Given the description of an element on the screen output the (x, y) to click on. 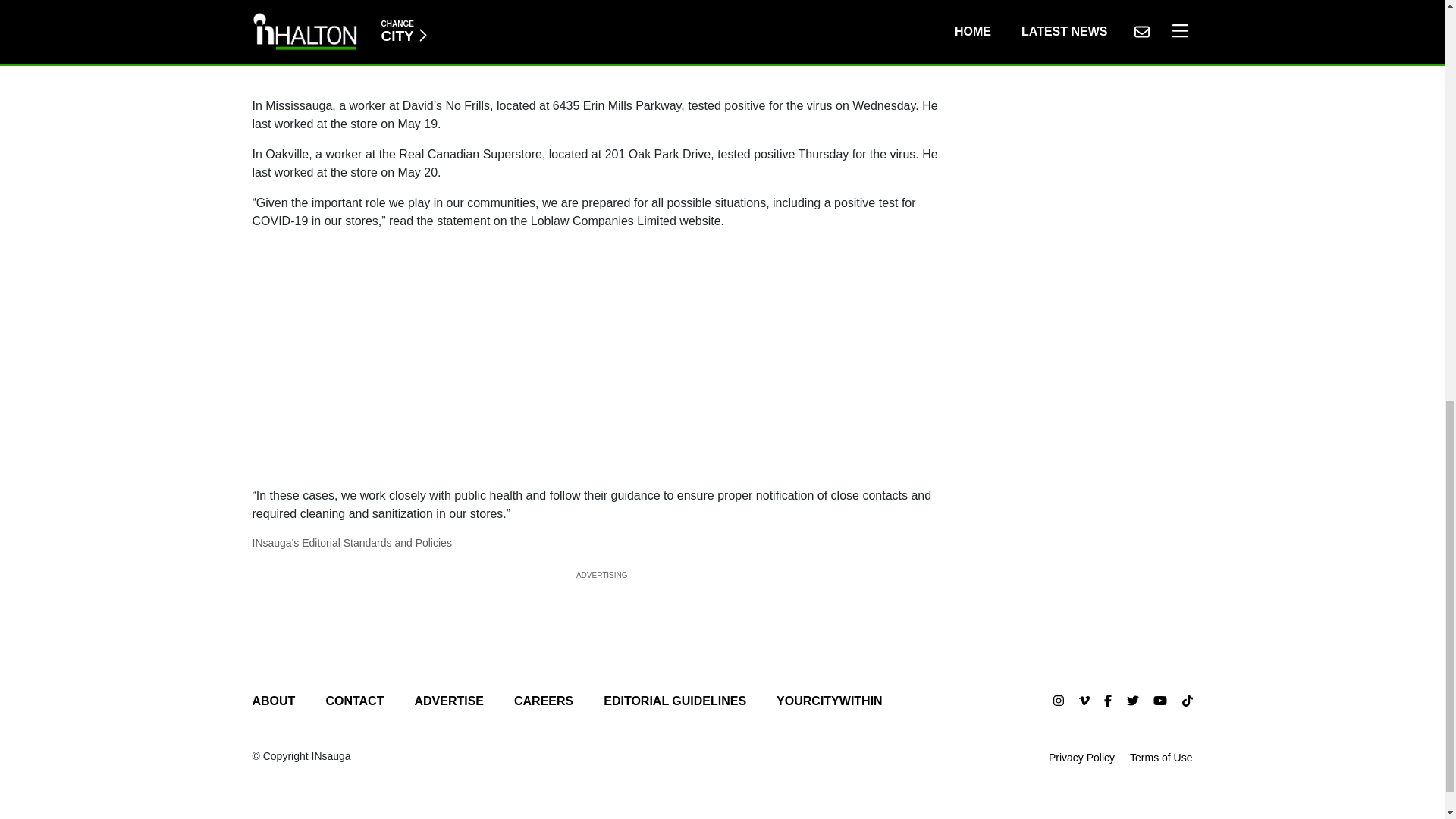
3rd party ad content (601, 40)
